Given the description of an element on the screen output the (x, y) to click on. 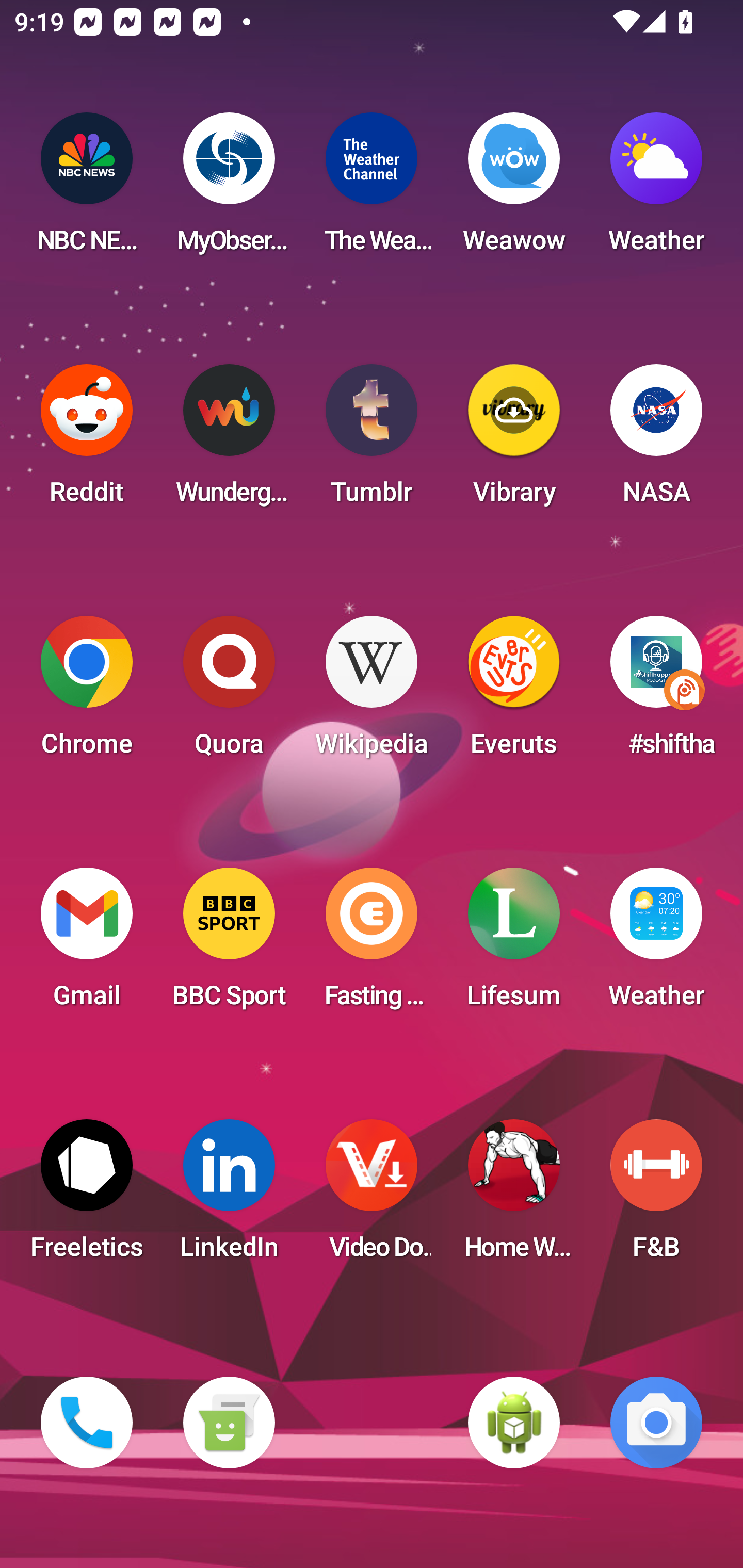
NBC NEWS (86, 188)
MyObservatory (228, 188)
The Weather Channel (371, 188)
Weawow (513, 188)
Weather (656, 188)
Reddit (86, 440)
Wunderground (228, 440)
Tumblr (371, 440)
Vibrary (513, 440)
NASA (656, 440)
Chrome (86, 692)
Quora (228, 692)
Wikipedia (371, 692)
Everuts (513, 692)
#shifthappens in the Digital Workplace Podcast (656, 692)
Gmail (86, 943)
BBC Sport (228, 943)
Fasting Coach (371, 943)
Lifesum (513, 943)
Weather (656, 943)
Freeletics (86, 1195)
LinkedIn (228, 1195)
Video Downloader & Ace Player (371, 1195)
Home Workout (513, 1195)
F&B (656, 1195)
Phone (86, 1422)
Messaging (228, 1422)
WebView Browser Tester (513, 1422)
Camera (656, 1422)
